Given the description of an element on the screen output the (x, y) to click on. 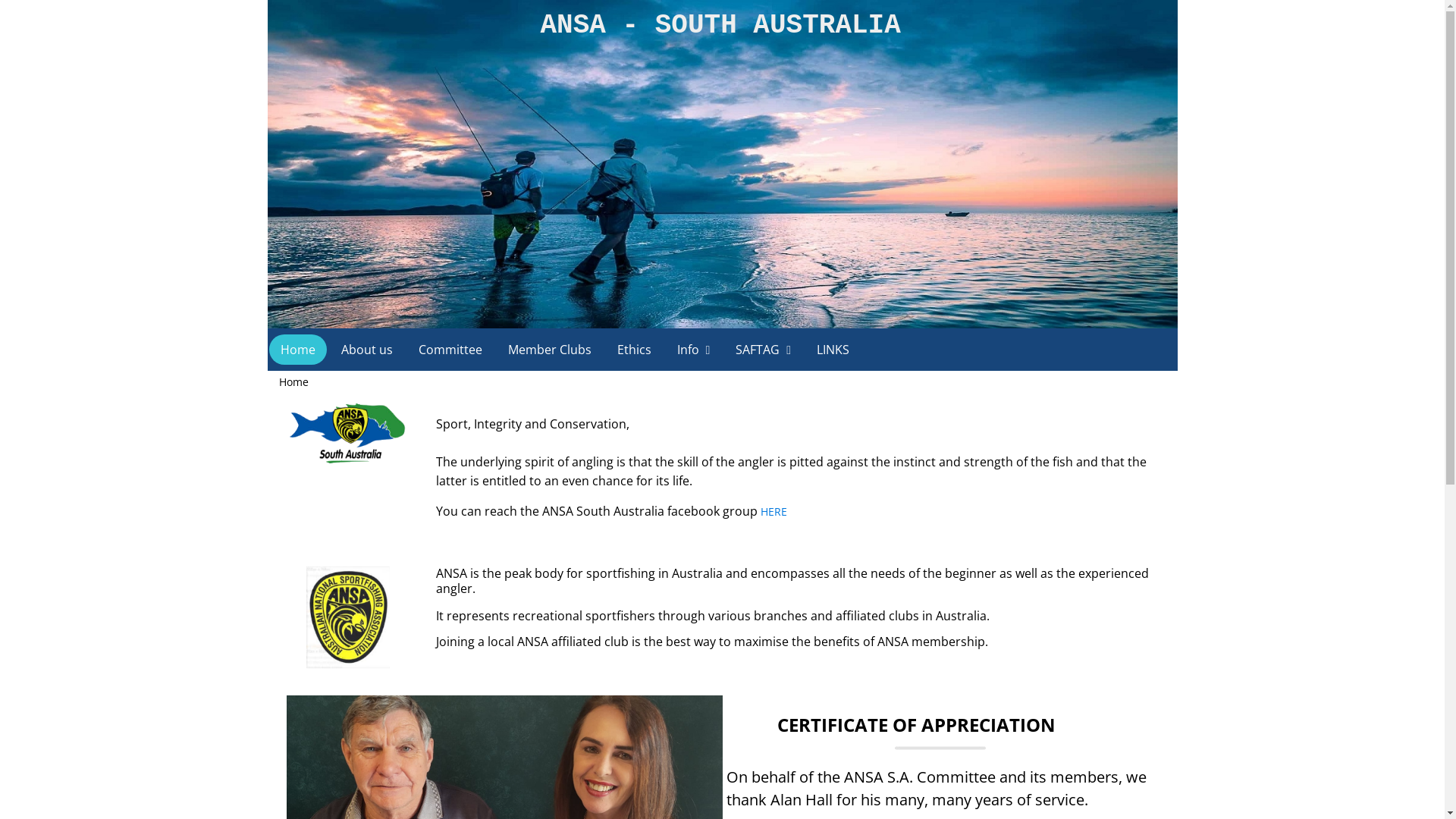
About us Element type: text (366, 349)
Committee Element type: text (449, 349)
SAFTAG Element type: text (763, 349)
Ethics Element type: text (633, 349)
Home Element type: text (297, 349)
Home Element type: text (293, 381)
Member Clubs Element type: text (548, 349)
Info Element type: text (693, 349)
HERE Element type: text (773, 511)
LINKS Element type: text (832, 349)
